Given the description of an element on the screen output the (x, y) to click on. 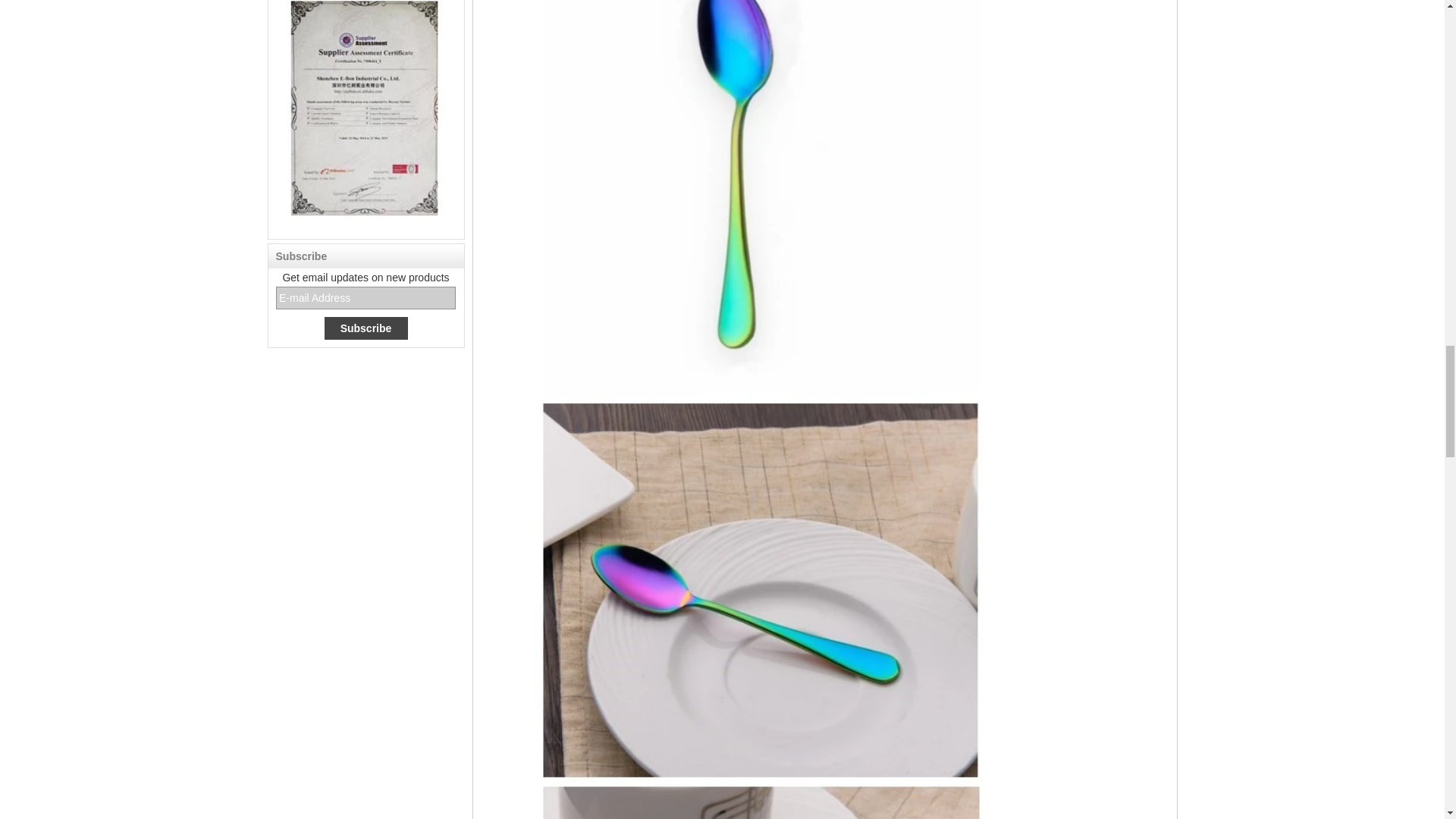
Subscribe (365, 327)
E-mail Address (365, 297)
